Given the description of an element on the screen output the (x, y) to click on. 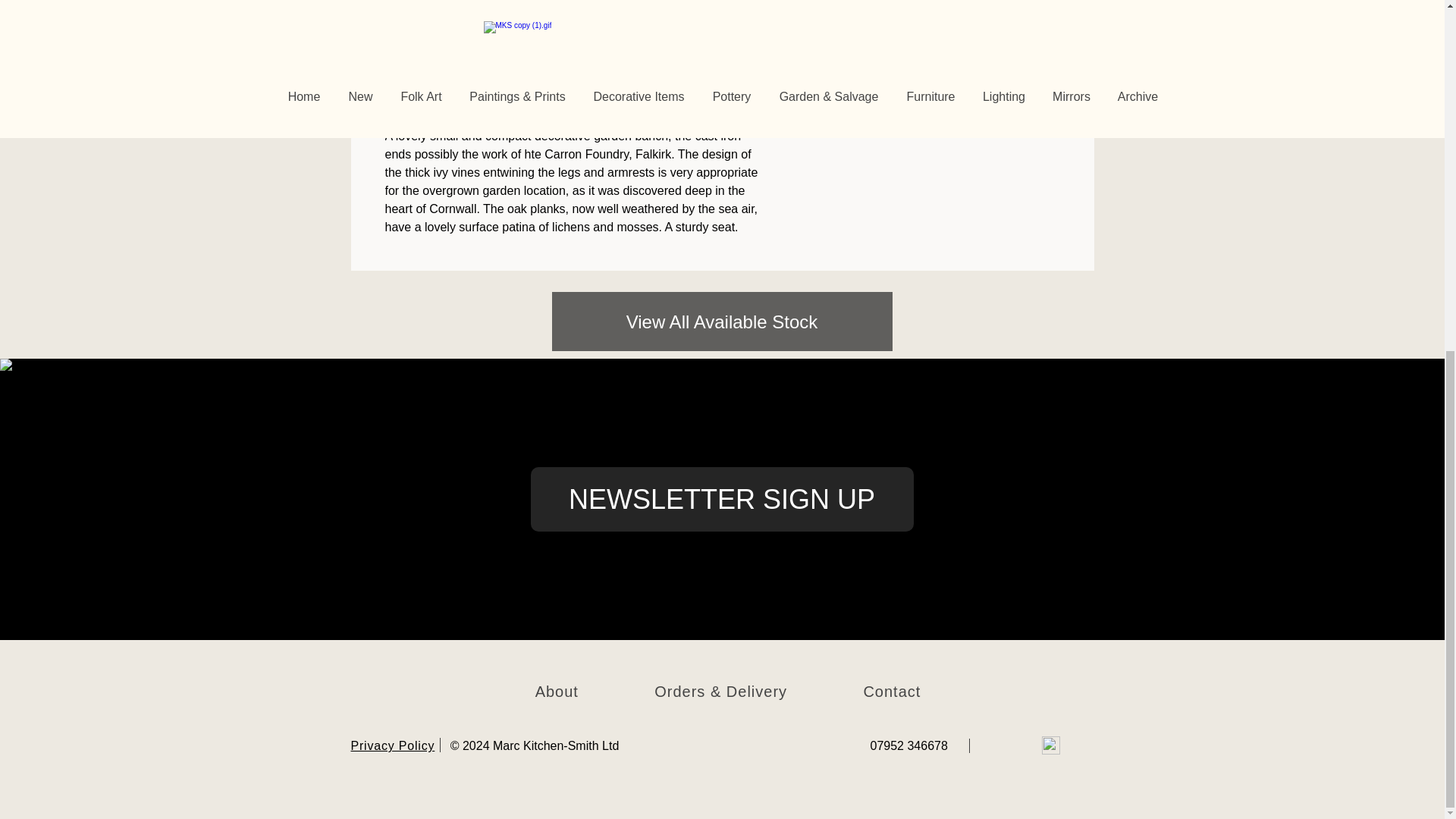
ENQUIRE - please quote the stock code for this item (932, 30)
About (557, 691)
Contact (891, 691)
Privacy Policy (391, 745)
View All Available Stock (721, 321)
NEWSLETTER SIGN UP (722, 498)
